Given the description of an element on the screen output the (x, y) to click on. 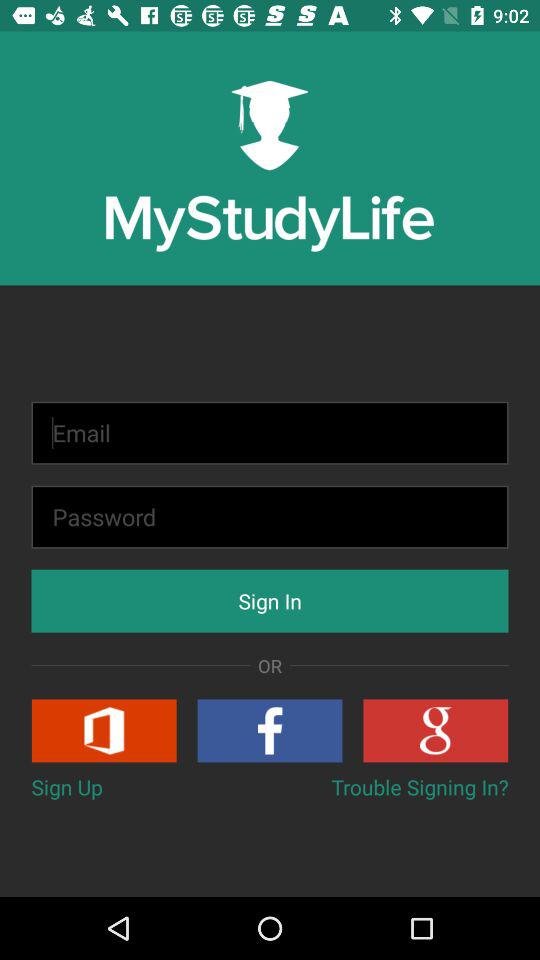
enter a password (269, 516)
